Given the description of an element on the screen output the (x, y) to click on. 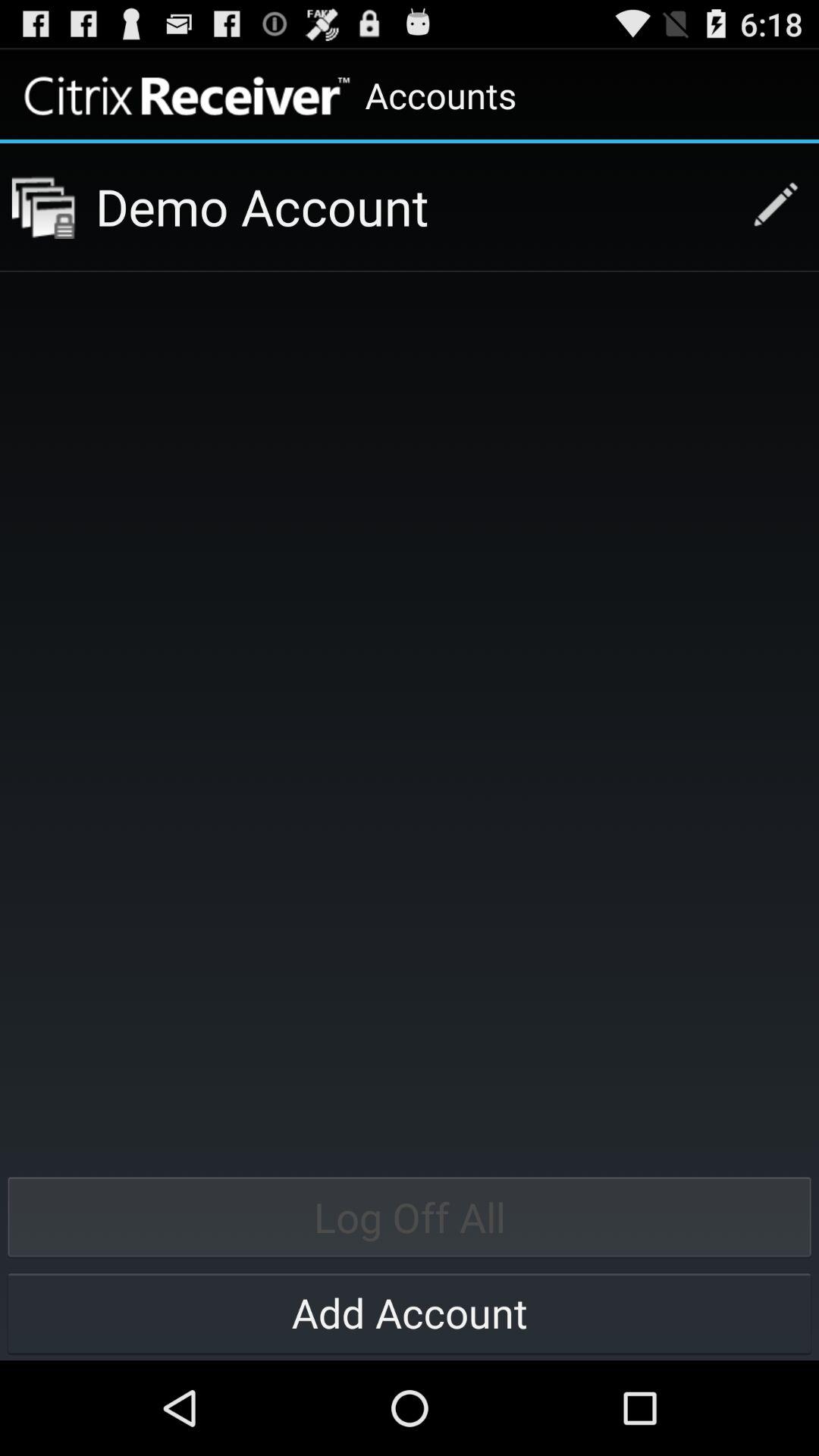
jump until the demo account item (412, 206)
